Given the description of an element on the screen output the (x, y) to click on. 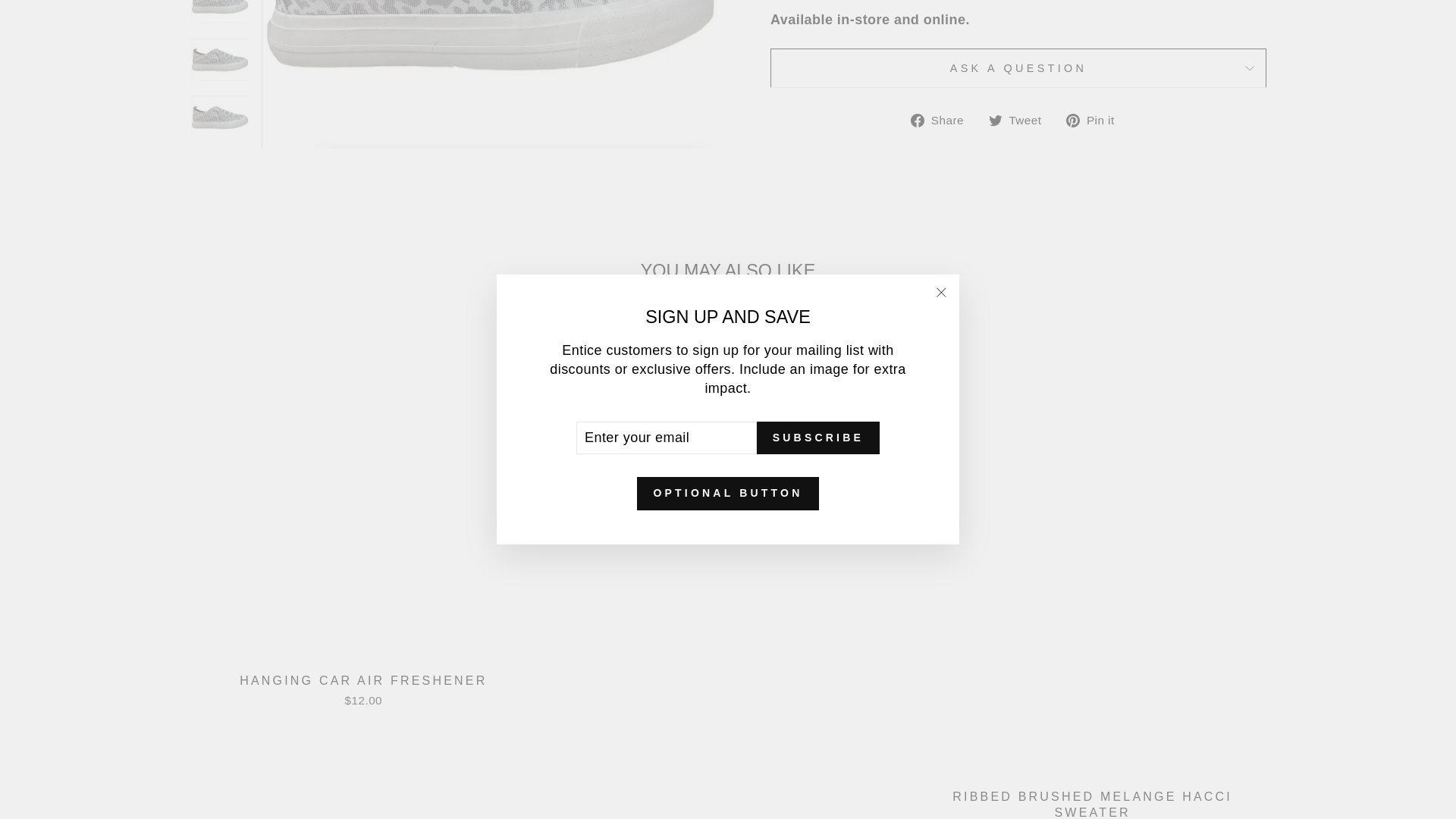
twitter (995, 120)
Tweet on Twitter (1020, 119)
